Given the description of an element on the screen output the (x, y) to click on. 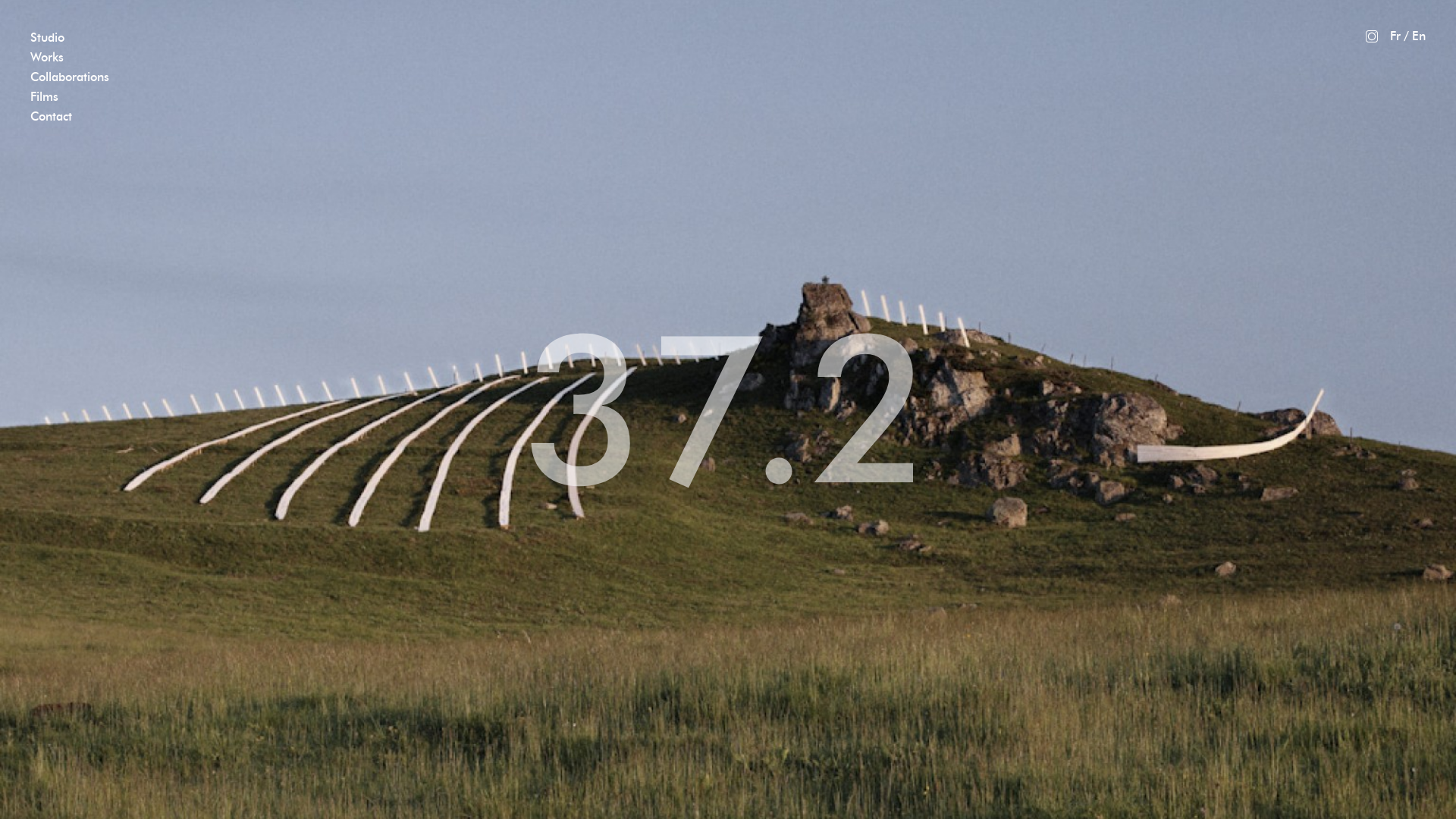
Works Element type: text (46, 57)
Fr Element type: text (1395, 36)
Contact Element type: text (51, 116)
Collaborations Element type: text (69, 77)
En Element type: text (1418, 36)
Films Element type: text (44, 97)
Studio Element type: text (47, 37)
